Given the description of an element on the screen output the (x, y) to click on. 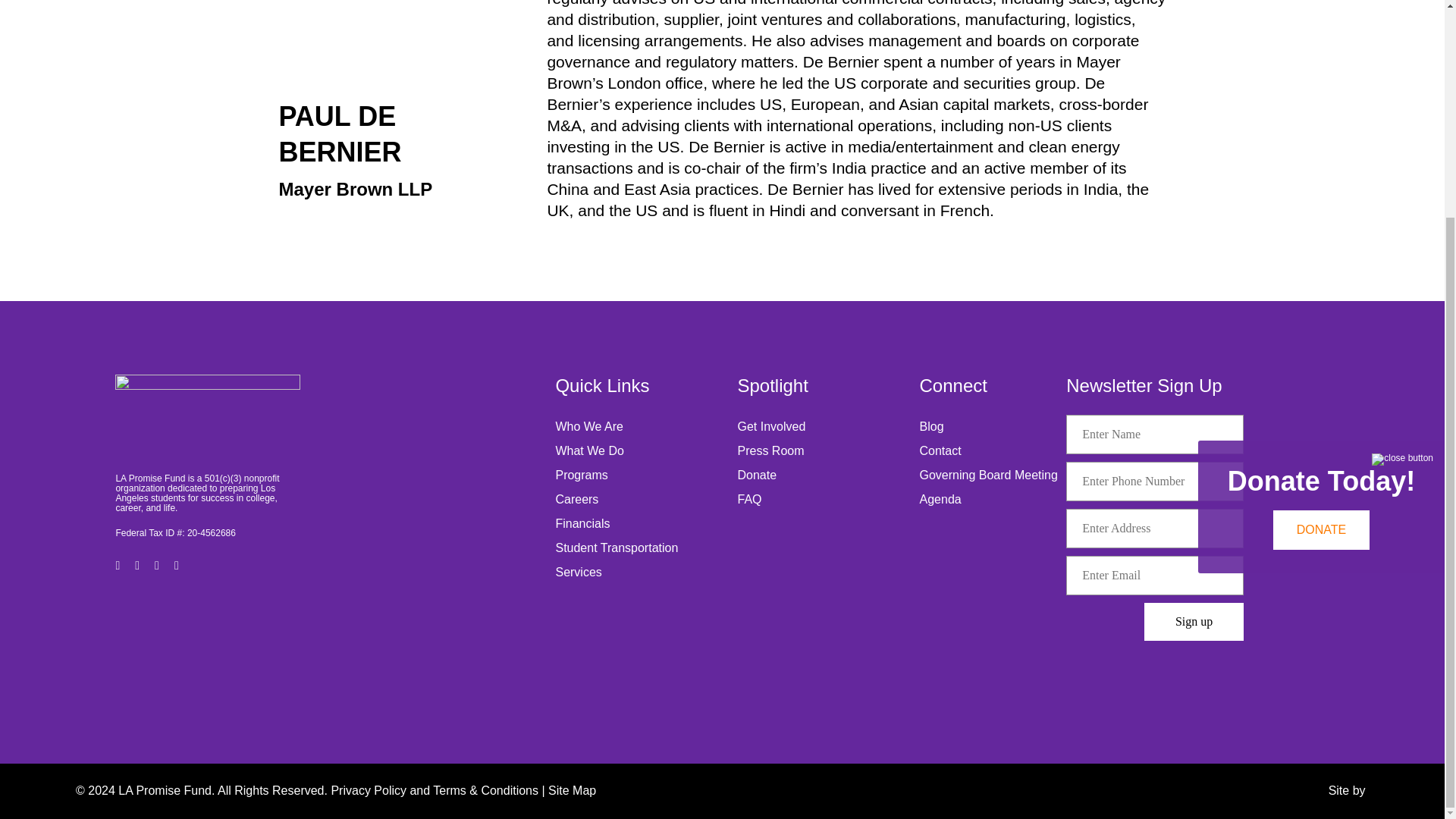
Sign up (1193, 621)
Paul-de-Bernier (354, 30)
